Given the description of an element on the screen output the (x, y) to click on. 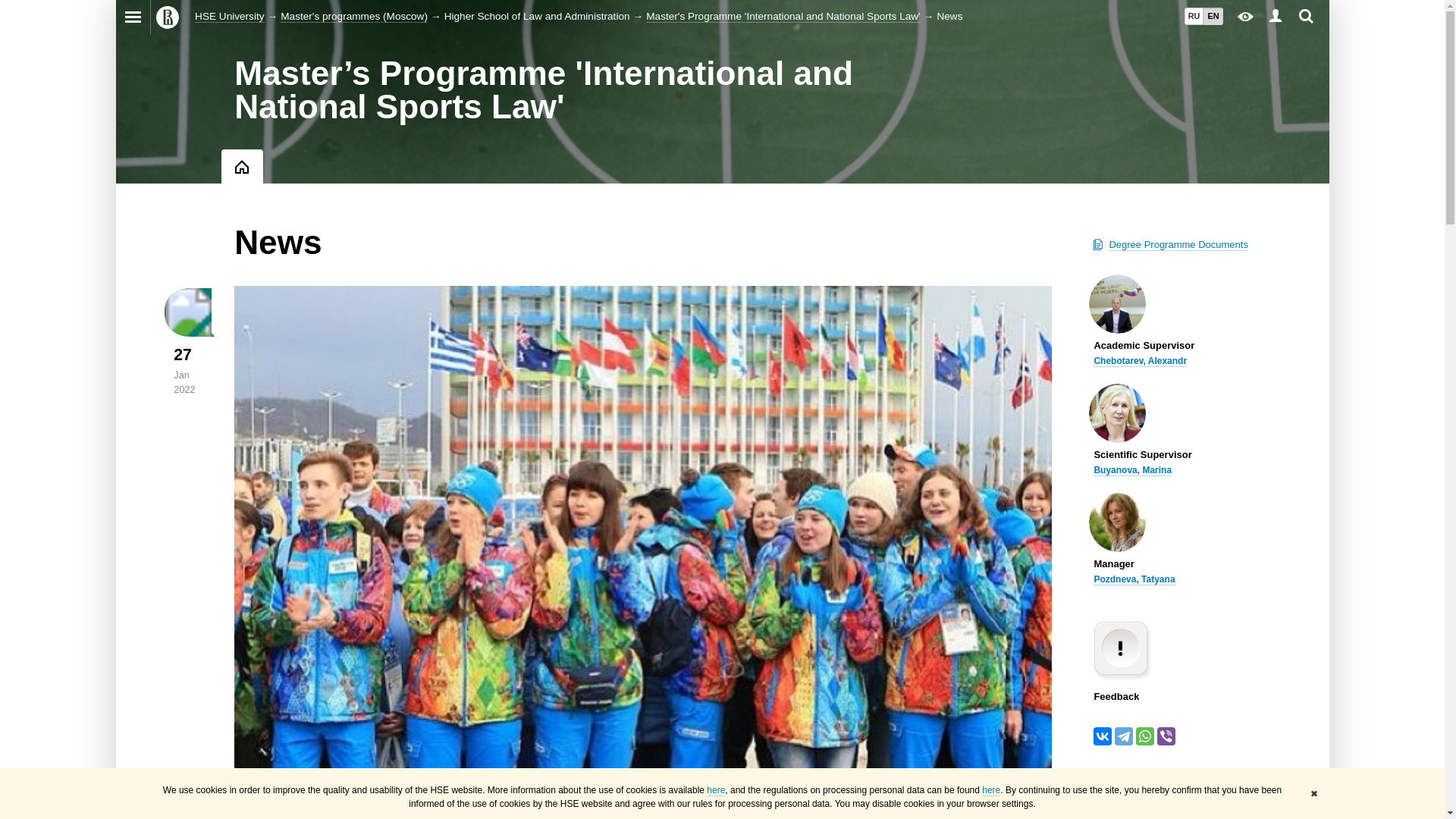
Viber (1165, 736)
WhatsApp (1144, 736)
here (715, 790)
Chebotarev, Alexandr (1139, 360)
Buyanova, Marina (1132, 470)
VKontakte (1102, 736)
Telegram (1123, 736)
Pozdneva, Tatyana (1133, 579)
Master's Programme 'International and National Sports Law' (783, 16)
here (990, 790)
HSE University (229, 16)
RU (1194, 16)
Degree Programme Documents (1177, 244)
